Given the description of an element on the screen output the (x, y) to click on. 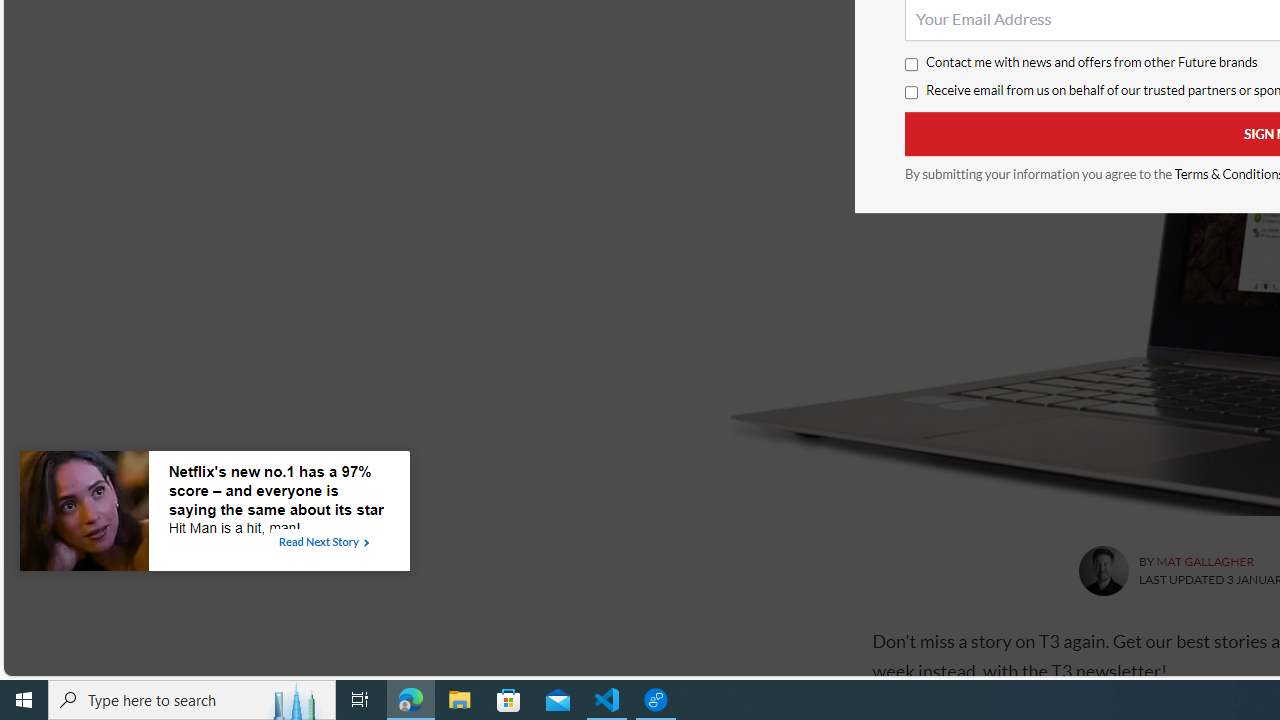
Image for Taboola Advertising Unit (84, 515)
Class: tbl-arrow-icon arrow-2 (366, 543)
MAT GALLAGHER (1204, 561)
Mat Gallagher (1102, 570)
Class: tbl-arrow-icon arrow-1 (366, 543)
Contact me with news and offers from other Future brands (910, 65)
Image for Taboola Advertising Unit (84, 515)
